Given the description of an element on the screen output the (x, y) to click on. 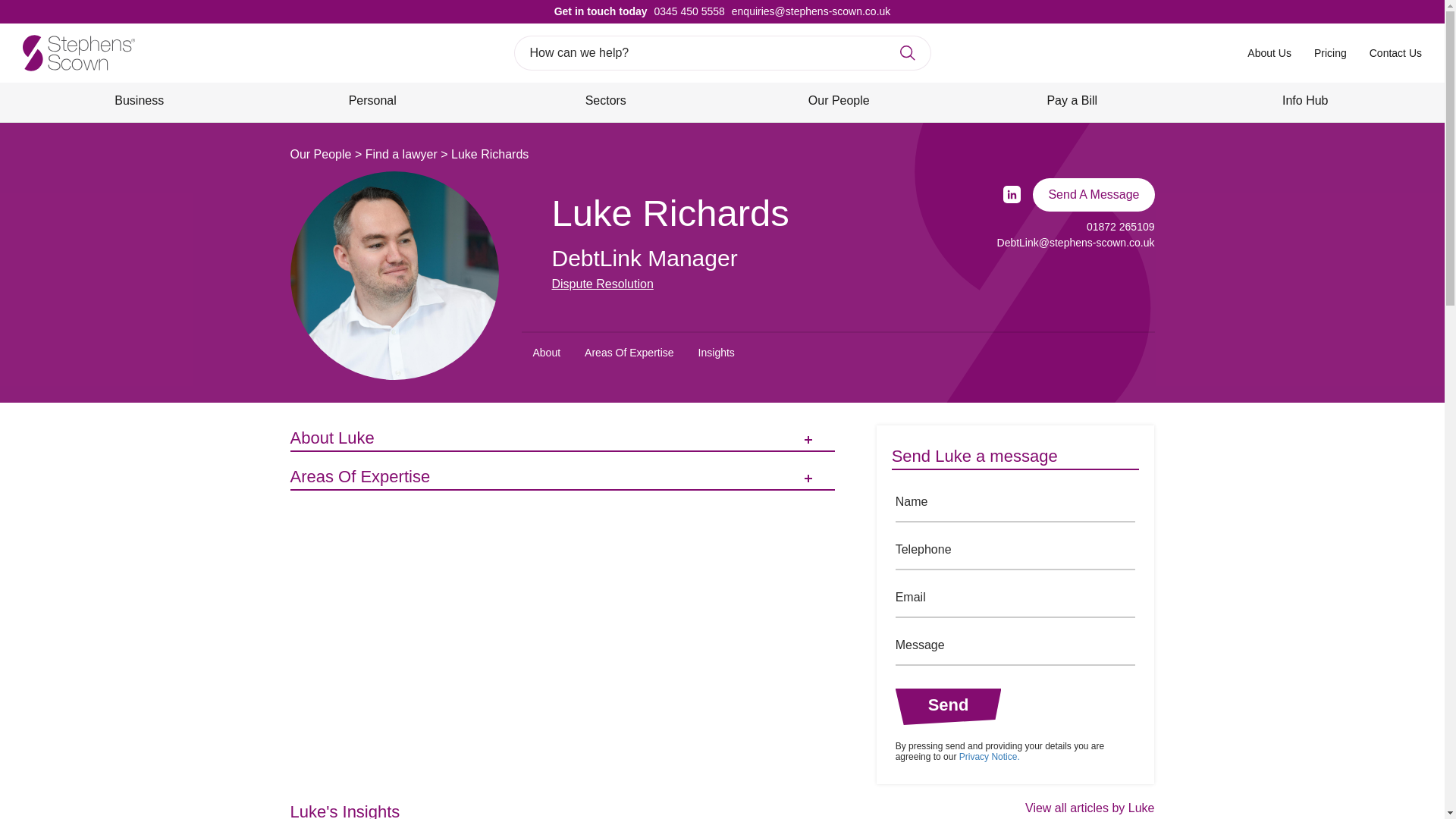
Pricing (1330, 52)
About Us (1269, 52)
Contact Us (1396, 52)
0345 450 5558 (686, 10)
Send (948, 706)
